Given the description of an element on the screen output the (x, y) to click on. 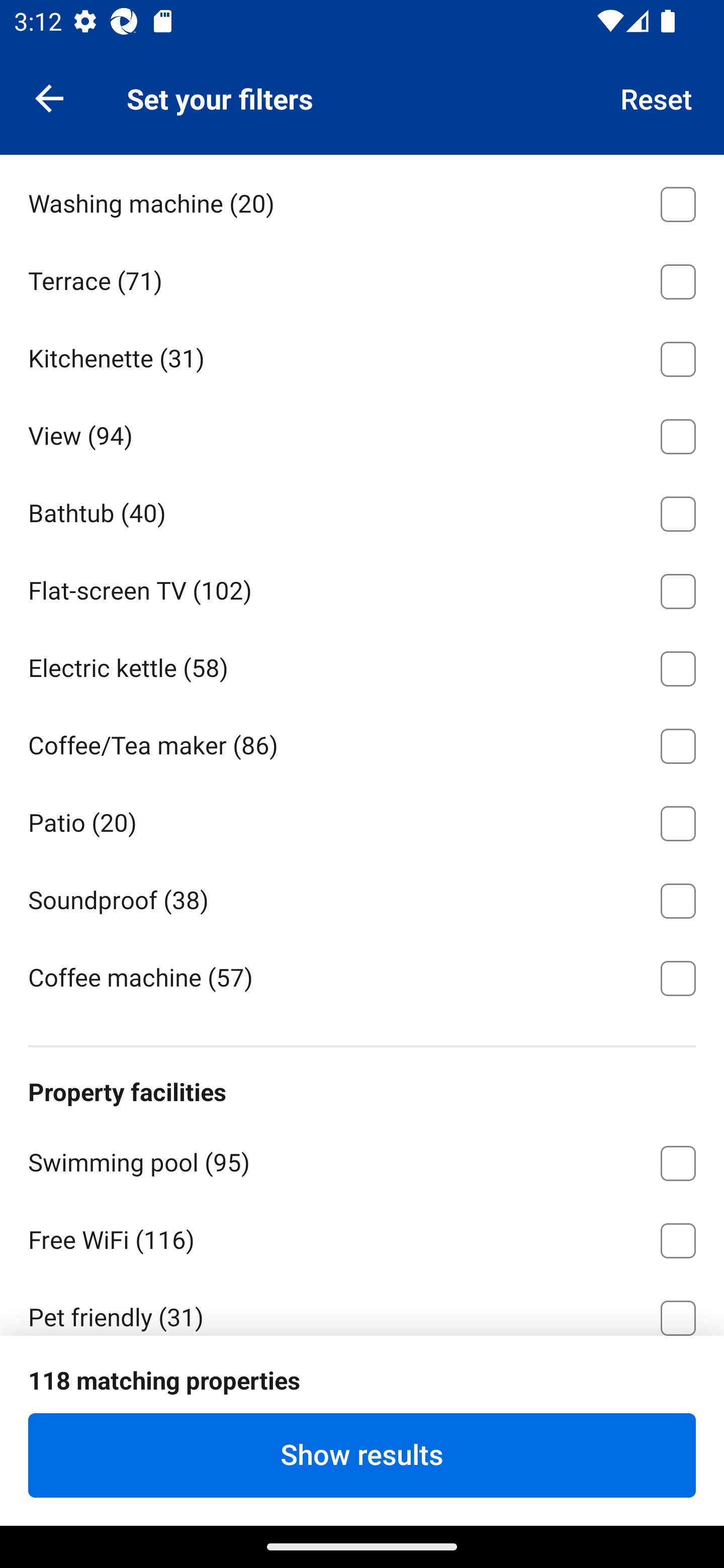
Navigate up (49, 97)
Reset (656, 97)
Washing machine ⁦(20) (361, 201)
Terrace ⁦(71) (361, 277)
Kitchenette ⁦(31) (361, 355)
View ⁦(94) (361, 433)
Bathtub ⁦(40) (361, 509)
Flat-screen TV ⁦(102) (361, 587)
Electric kettle ⁦(58) (361, 665)
Coffee/Tea maker ⁦(86) (361, 742)
Patio ⁦(20) (361, 819)
Soundproof ⁦(38) (361, 897)
Coffee machine ⁦(57) (361, 976)
Swimming pool ⁦(95) (361, 1159)
Free WiFi ⁦(116) (361, 1236)
Pet friendly ⁦(31) (361, 1305)
Free parking ⁦(46) (361, 1391)
Show results (361, 1454)
